Given the description of an element on the screen output the (x, y) to click on. 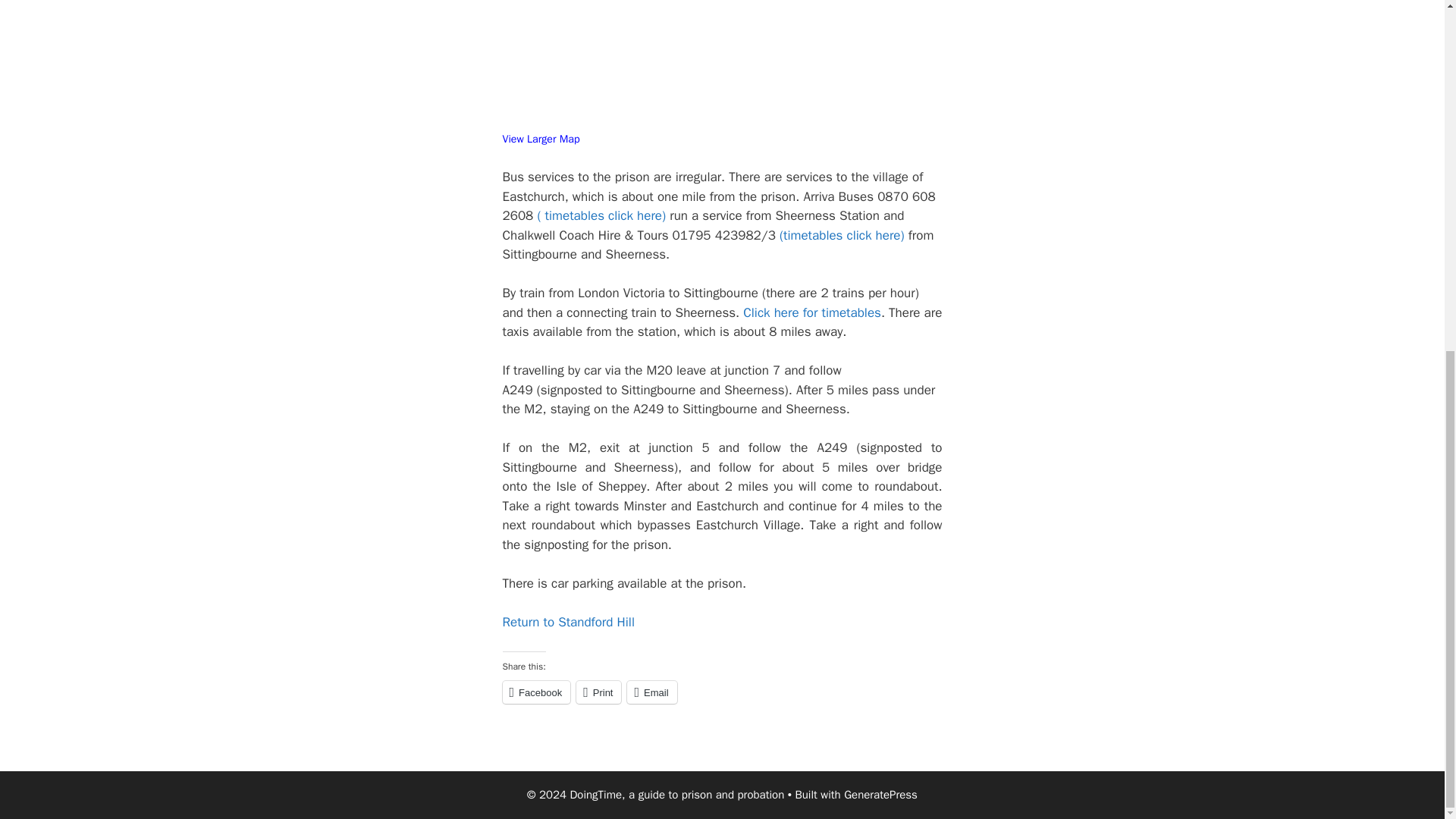
Click to email a link to a friend (652, 691)
Click to print (598, 691)
HMP Standford Hill (567, 621)
Click to share on Facebook (536, 691)
